Given the description of an element on the screen output the (x, y) to click on. 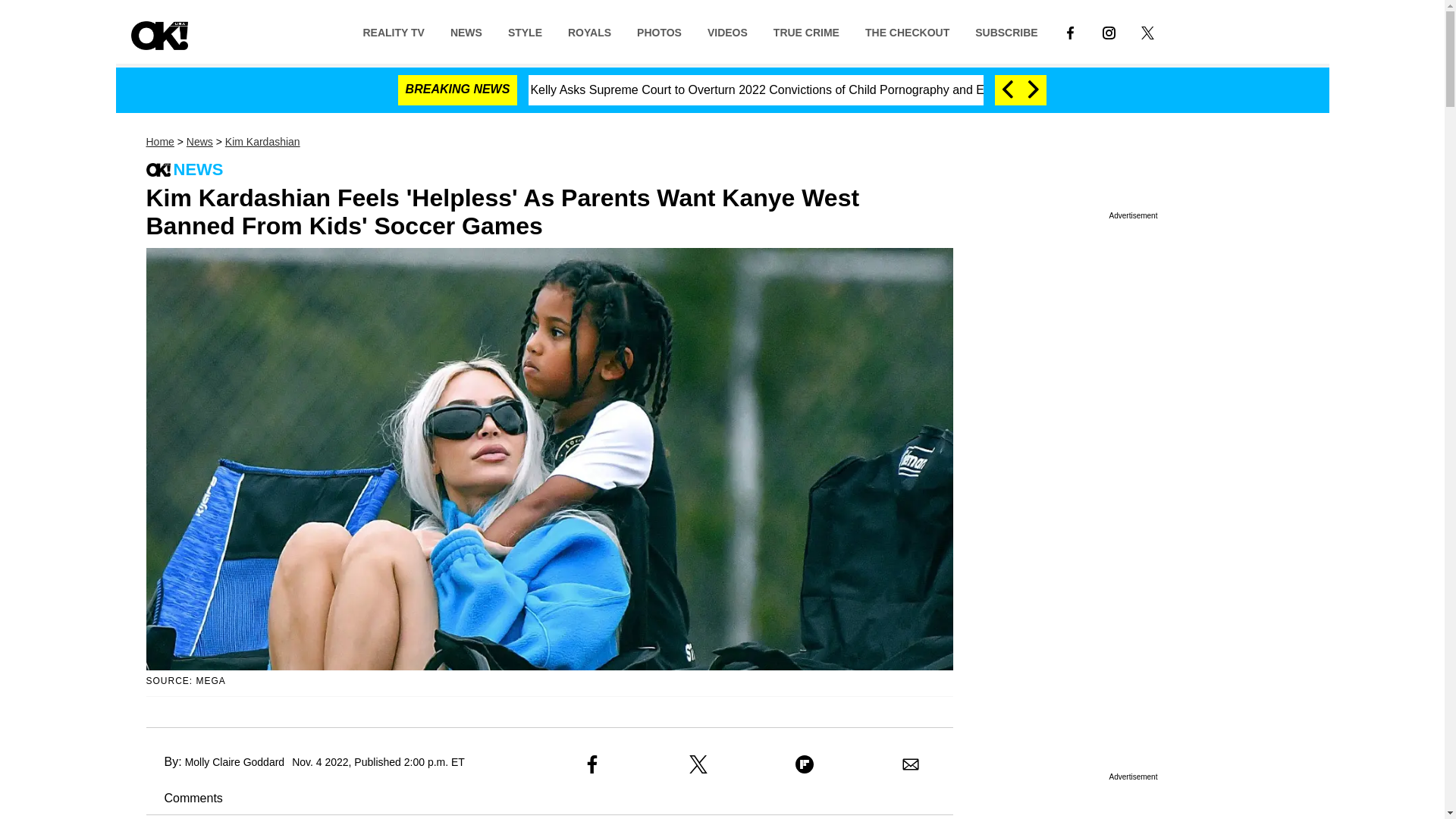
NEWS (466, 31)
Share to X (697, 764)
THE CHECKOUT (906, 31)
LINK TO X (1147, 31)
TRUE CRIME (805, 31)
Share to Flipboard (803, 764)
Molly Claire Goddard (234, 761)
Link to X (1147, 31)
Link to Facebook (1070, 31)
LINK TO INSTAGRAM (1108, 31)
REALITY TV (392, 31)
News (199, 141)
Share to Facebook (590, 764)
LINK TO FACEBOOK (1070, 32)
